Given the description of an element on the screen output the (x, y) to click on. 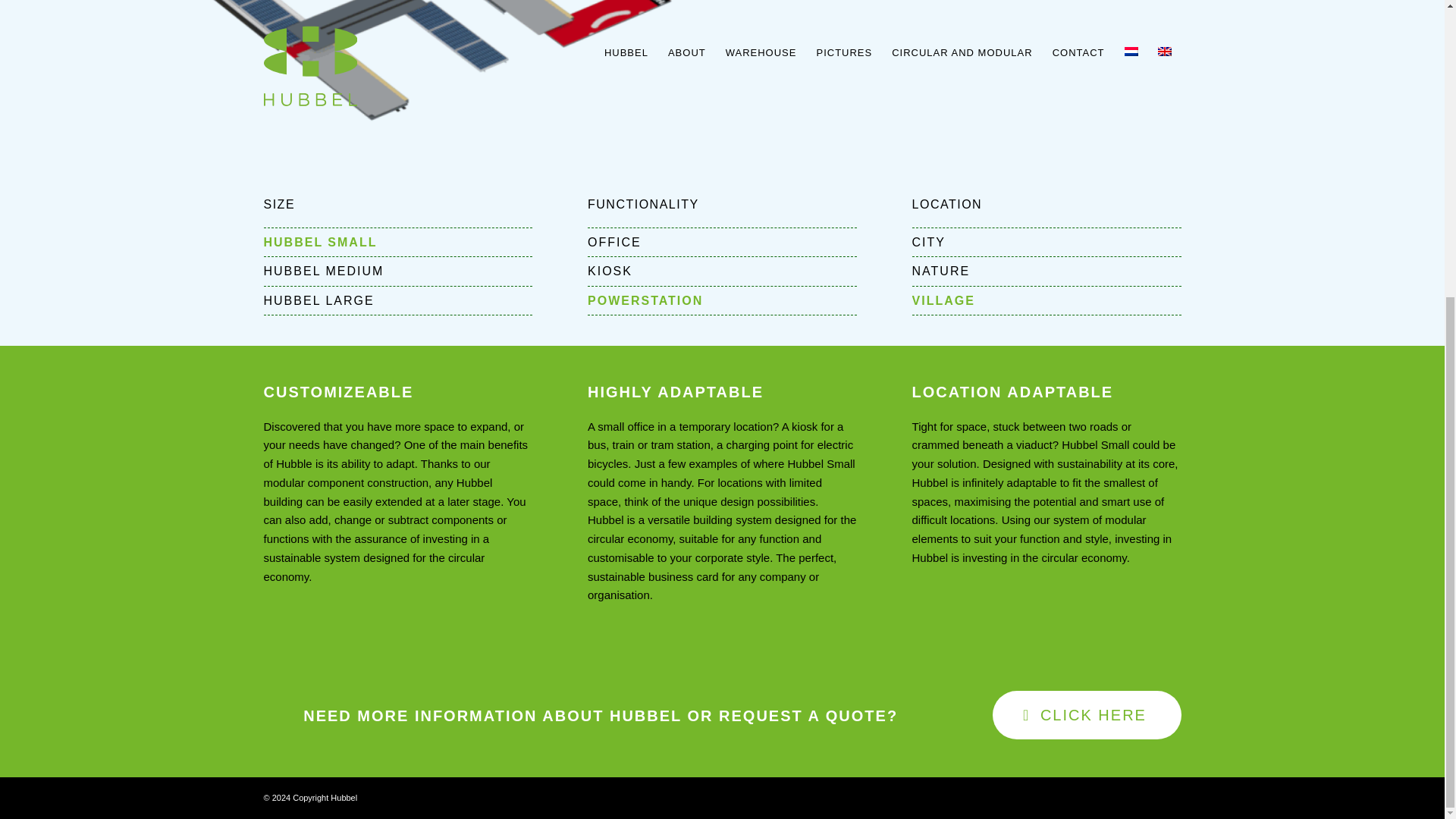
OFFICE (722, 242)
CLICK HERE (1086, 715)
NATURE (1046, 271)
CITY (1046, 242)
HUBBEL MEDIUM (397, 271)
KIOSK (722, 271)
HUBBEL LARGE (397, 300)
